Given the description of an element on the screen output the (x, y) to click on. 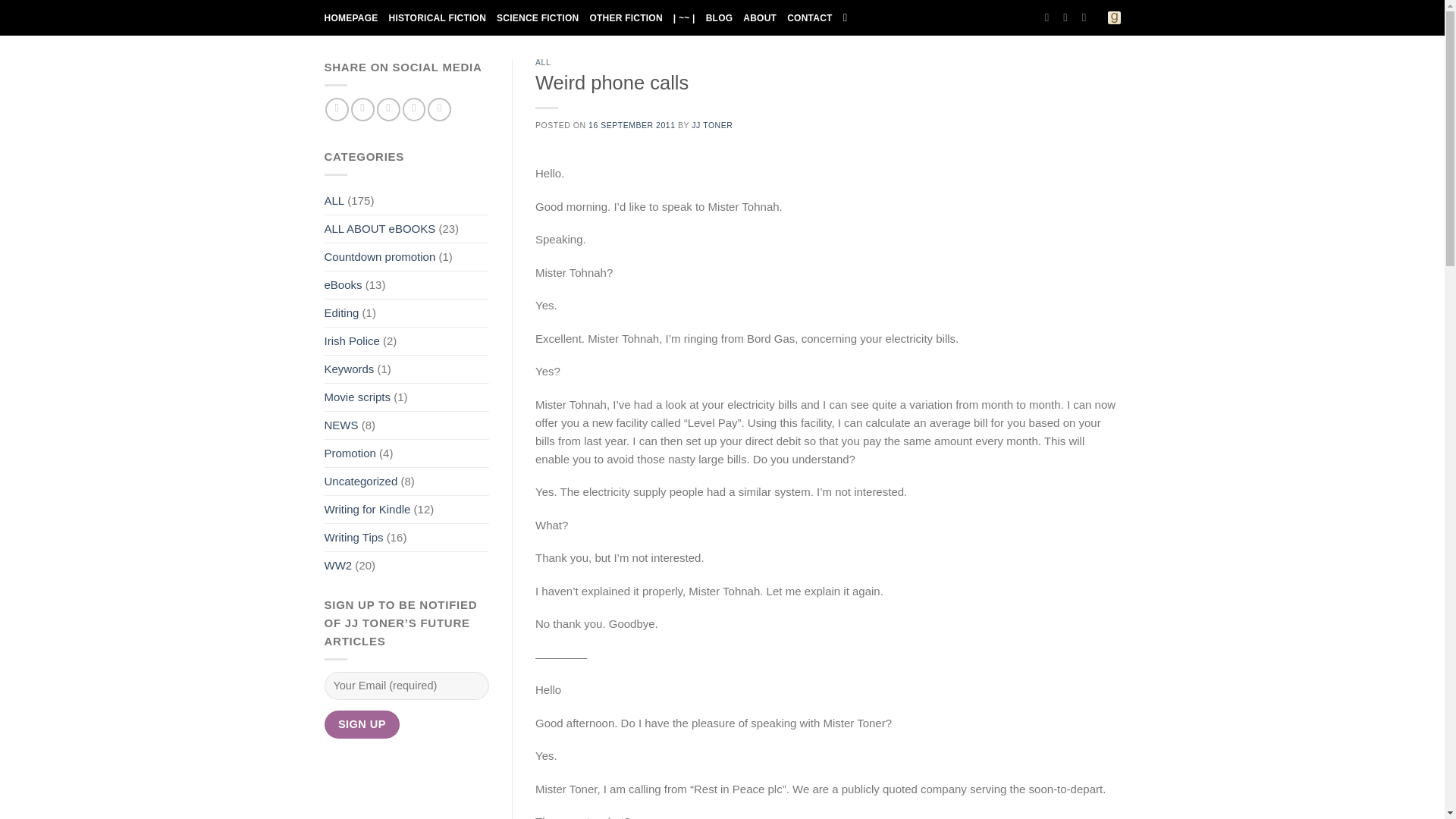
ABOUT (759, 17)
Follow on Facebook (336, 109)
HOMEPAGE (351, 17)
16 SEPTEMBER 2011 (631, 124)
Uncategorized (360, 481)
WW2 (338, 565)
Irish Police (352, 340)
Sign Up (362, 724)
Editing (341, 312)
BLOG (719, 17)
CONTACT (809, 17)
SCIENCE FICTION (537, 17)
Sign Up (362, 724)
OTHER FICTION (625, 17)
NEWS (341, 424)
